Given the description of an element on the screen output the (x, y) to click on. 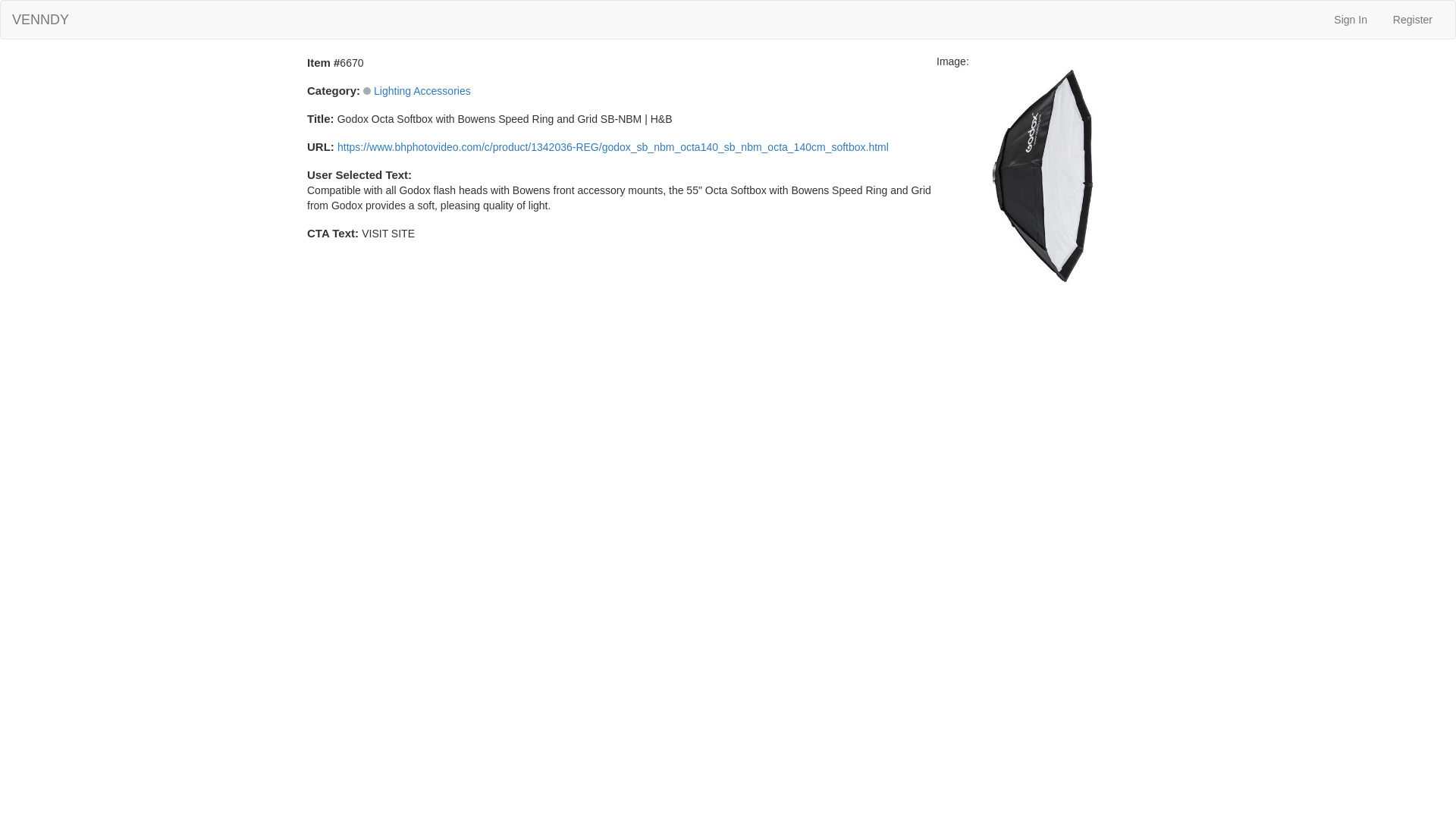
Lighting Accessories (422, 91)
 Sign In (1348, 19)
 Register (1411, 19)
VENNDY (40, 19)
